Given the description of an element on the screen output the (x, y) to click on. 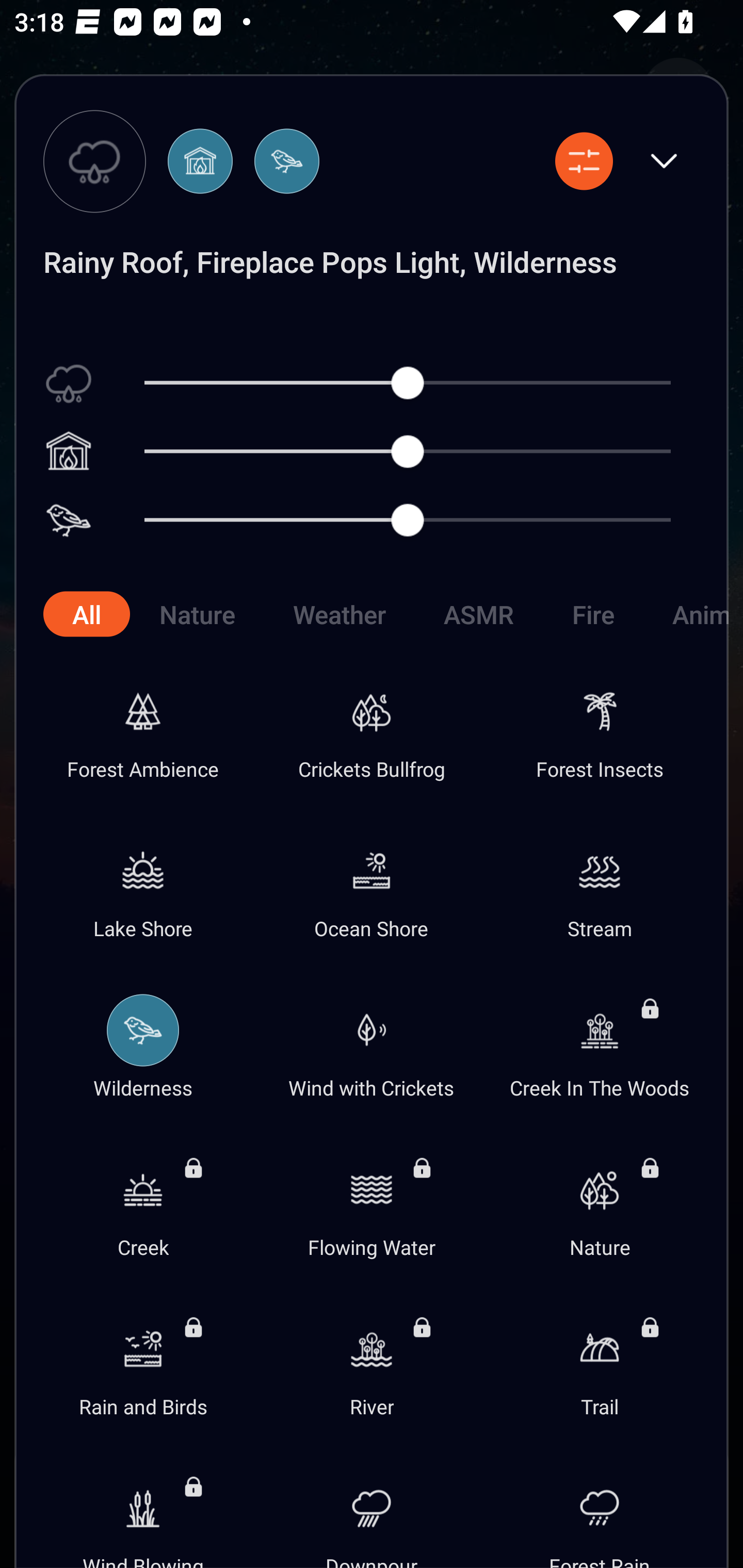
All (86, 613)
Nature (196, 613)
Weather (338, 613)
ASMR (478, 613)
Fire (592, 613)
Animal (685, 613)
Forest Ambience (142, 725)
Crickets Bullfrog (371, 725)
Forest Insects (599, 725)
Lake Shore (142, 885)
Ocean Shore (371, 885)
Stream (599, 885)
Wilderness (142, 1044)
Wind with Crickets (371, 1044)
Creek In The Woods (599, 1044)
Creek (142, 1204)
Flowing Water (371, 1204)
Nature (599, 1204)
Rain and Birds (142, 1364)
River (371, 1364)
Trail (599, 1364)
Wind Blowing Through Trees (142, 1506)
Downpour (371, 1506)
Forest Rain (599, 1506)
